Given the description of an element on the screen output the (x, y) to click on. 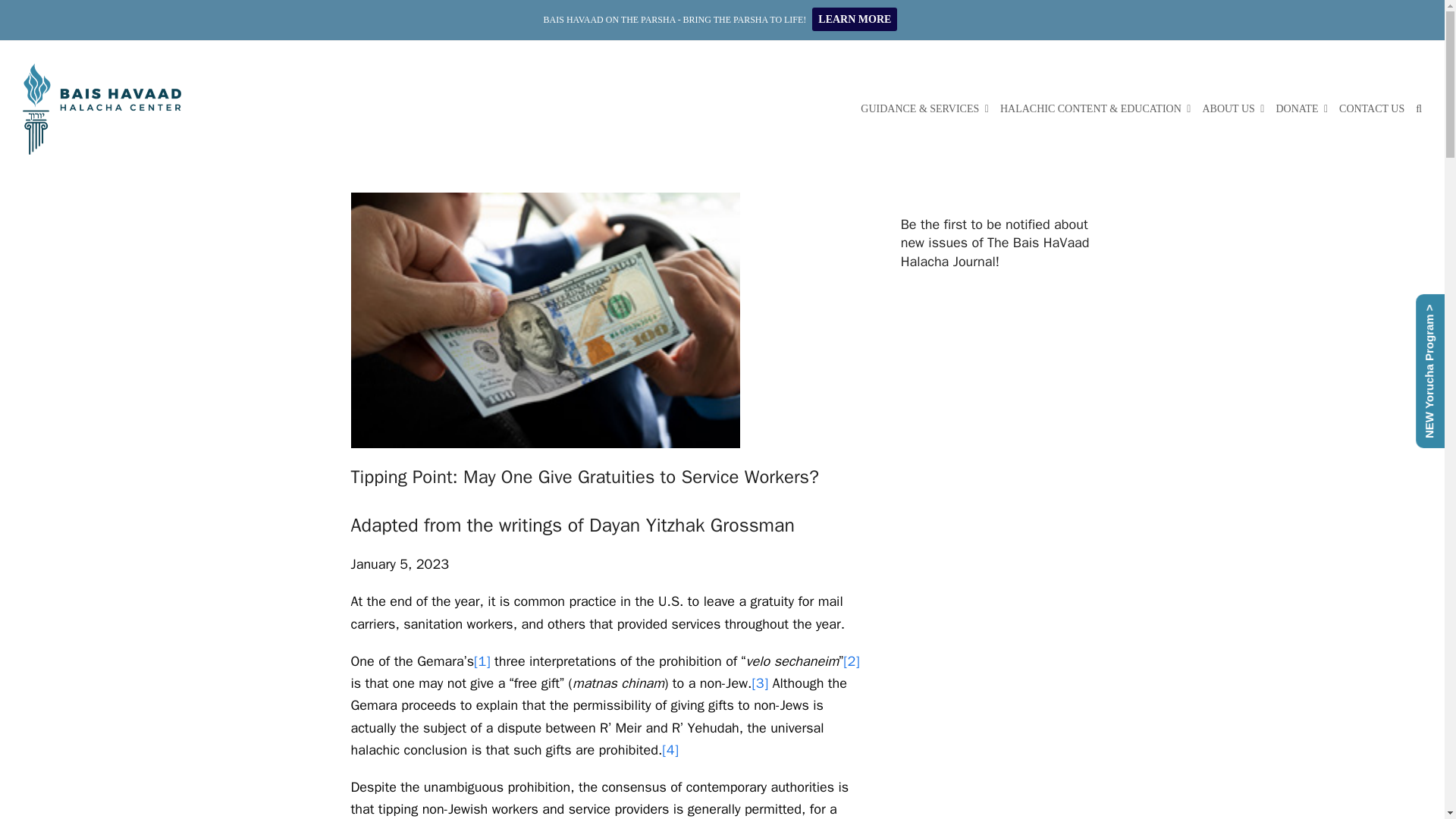
CONTACT US (1372, 108)
ABOUT US (1232, 108)
DONATE (1301, 108)
LEARN MORE (854, 19)
